Given the description of an element on the screen output the (x, y) to click on. 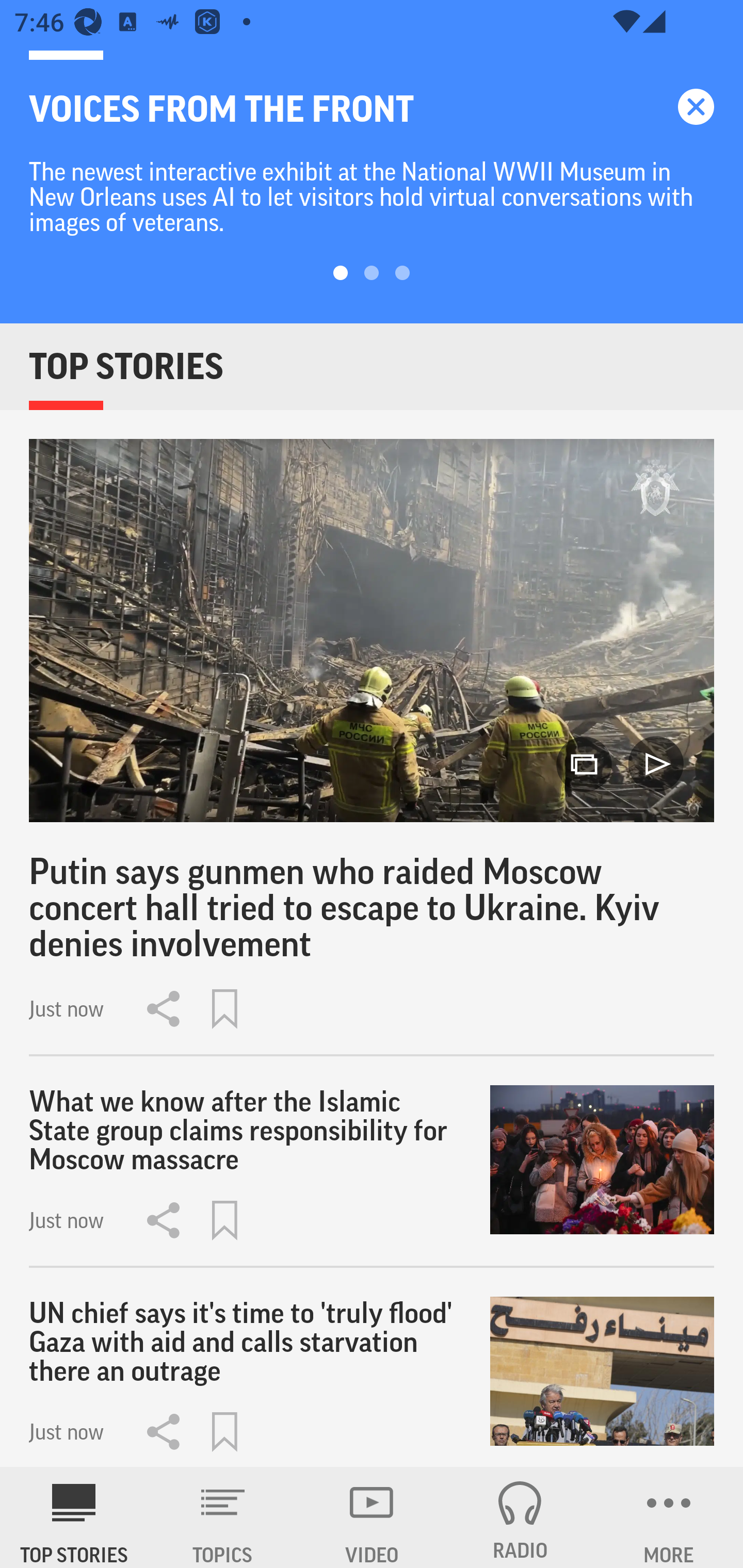
AP News TOP STORIES (74, 1517)
TOPICS (222, 1517)
VIDEO (371, 1517)
RADIO (519, 1517)
MORE (668, 1517)
